Given the description of an element on the screen output the (x, y) to click on. 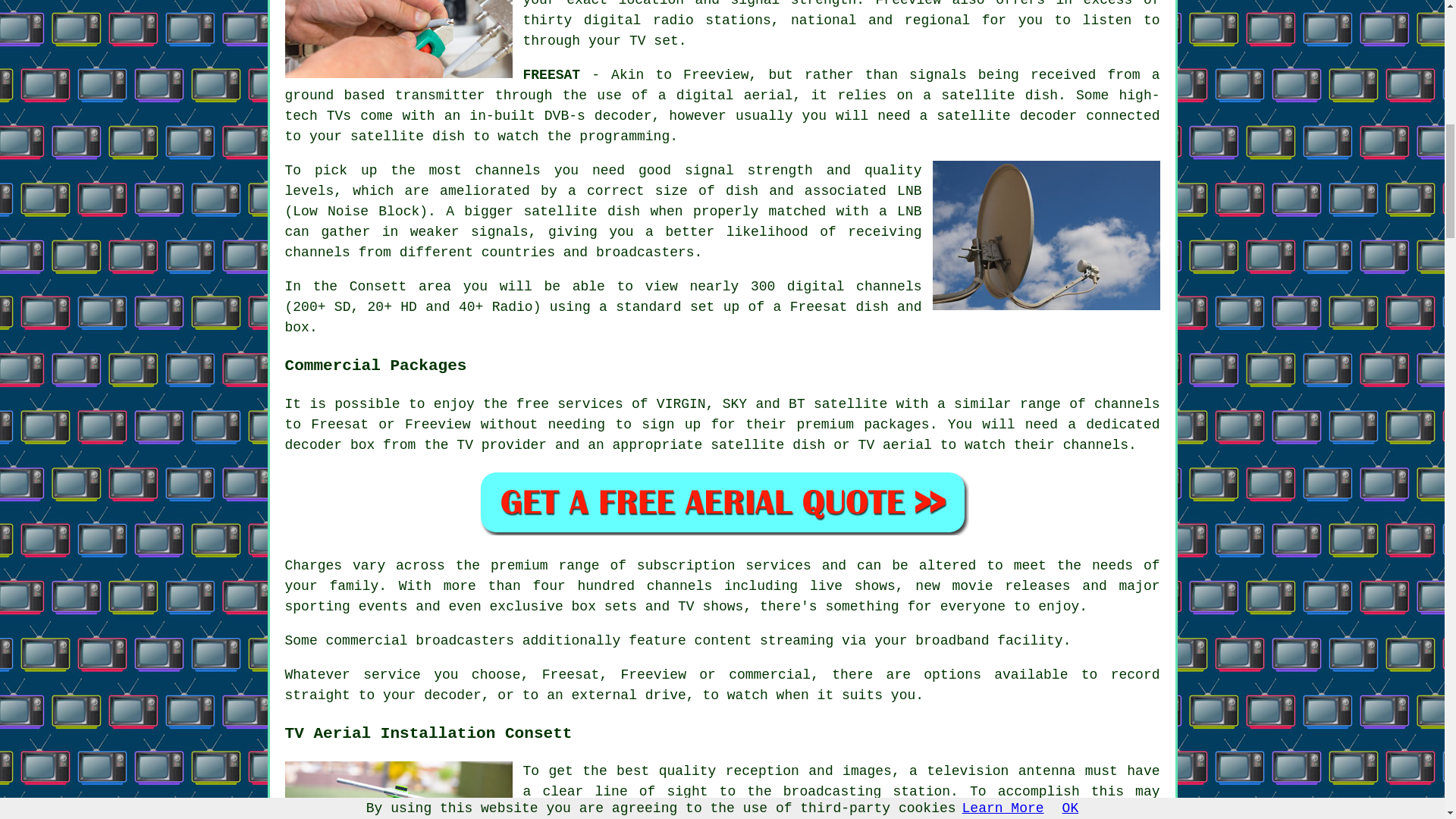
Satellite Dish Installation Consett - Freesat - Sky (1046, 235)
Aerial Installer Quotes in Consett County Durham (722, 501)
Aerial Installers Consett UK (398, 38)
Aerial Fitters Consett (398, 790)
